Given the description of an element on the screen output the (x, y) to click on. 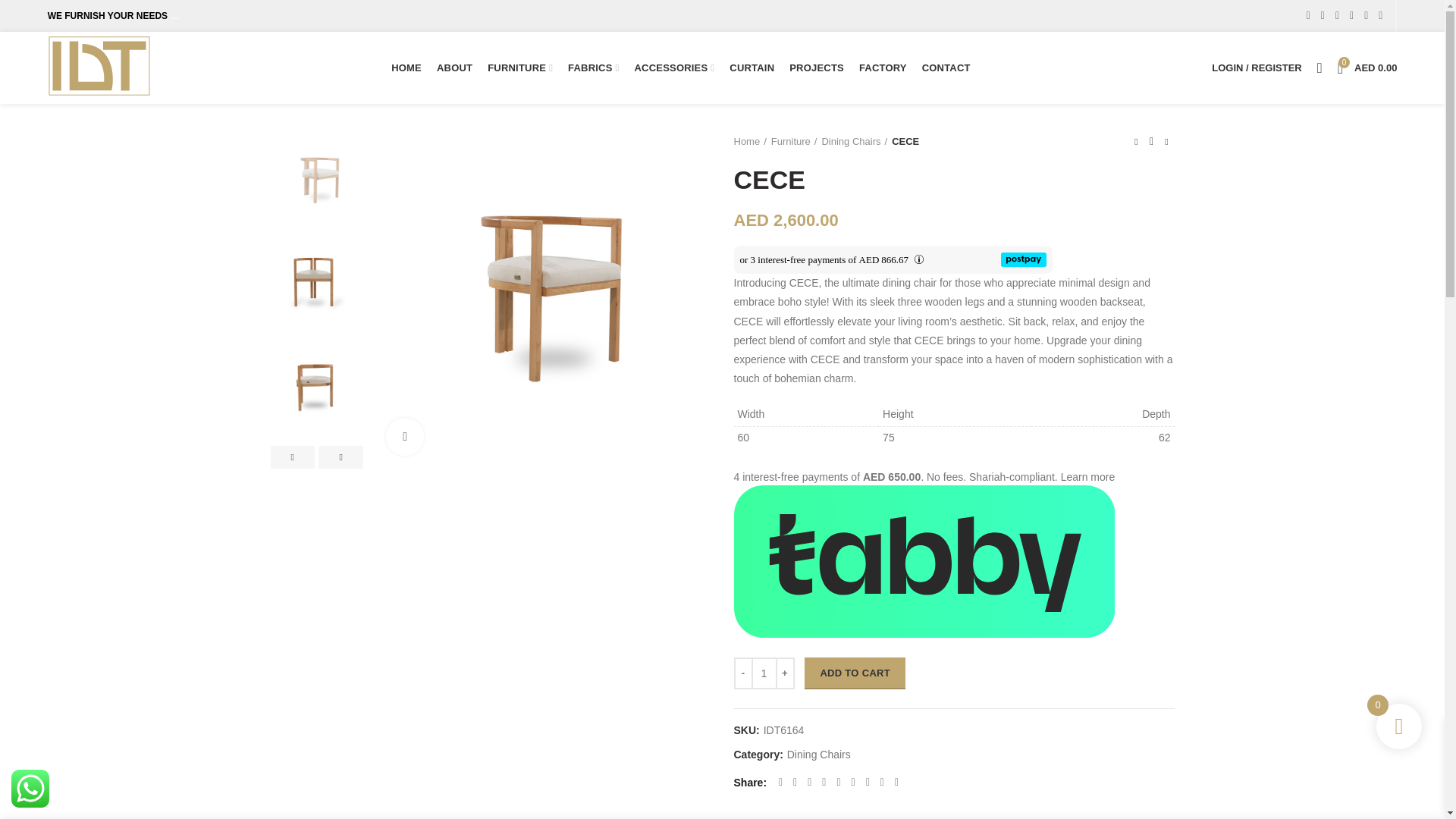
FURNITURE (520, 68)
FABRICS (593, 68)
ABOUT (454, 68)
My account (1256, 68)
ACCESSORIES (674, 68)
Shopping cart (1367, 68)
1 (542, 300)
1 (316, 180)
2 (316, 284)
HOME (406, 68)
3 (316, 388)
